Given the description of an element on the screen output the (x, y) to click on. 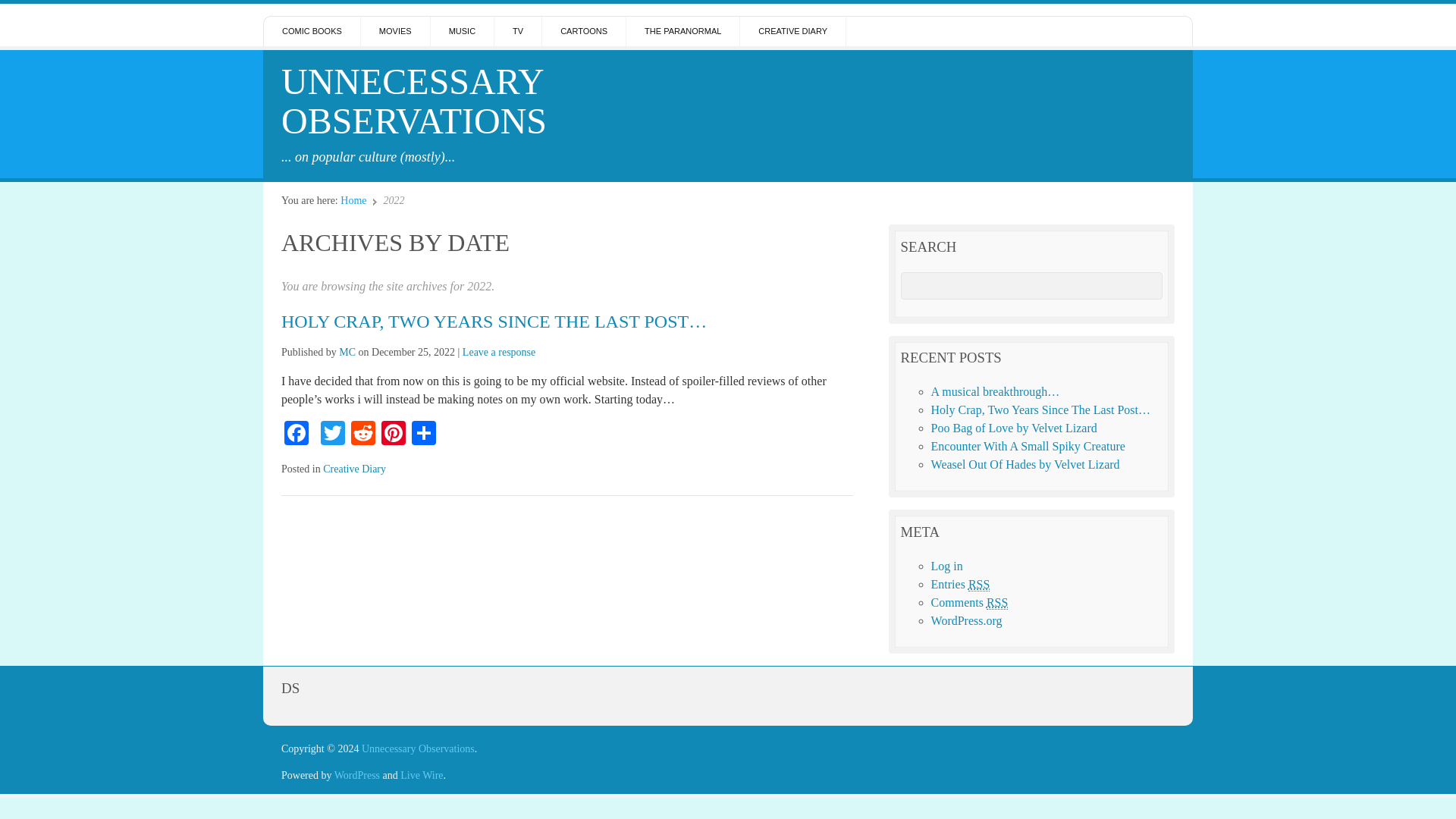
Creative Diary (354, 469)
Pinterest (393, 434)
Unnecessary Observations (417, 748)
Twitter (332, 434)
Pinterest (393, 434)
MC (347, 351)
Unnecessary Observations (417, 748)
Live Wire (421, 775)
Twitter (332, 434)
Unnecessary Observations (414, 100)
Facebook (296, 434)
Really Simple Syndication (997, 602)
MC (347, 351)
Leave a response (499, 351)
